Given the description of an element on the screen output the (x, y) to click on. 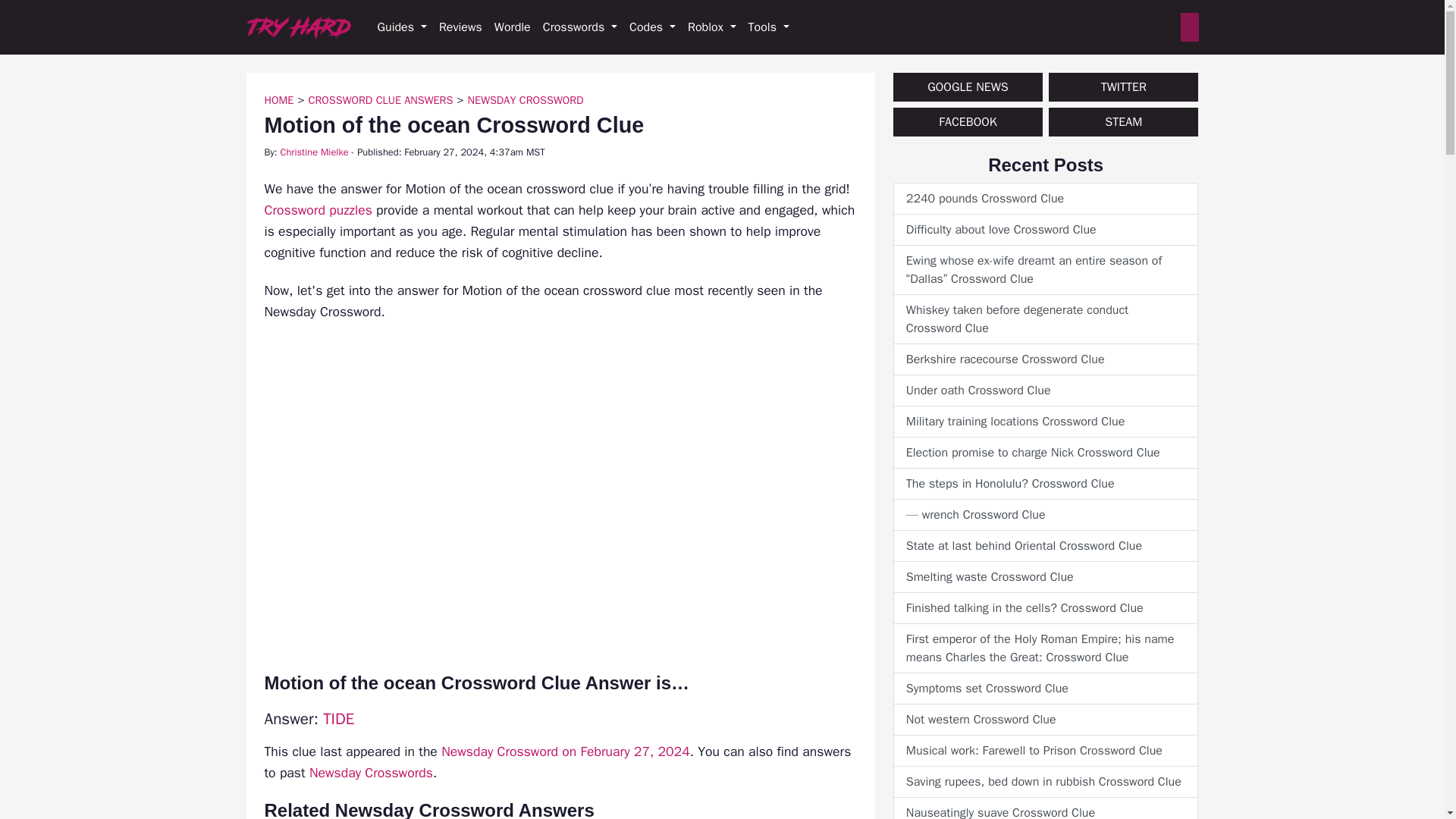
Wordle (512, 27)
Crosswords (580, 27)
Guides (401, 27)
Try Hard Guides (298, 27)
Roblox (711, 27)
Codes (652, 27)
Reviews (459, 27)
